Given the description of an element on the screen output the (x, y) to click on. 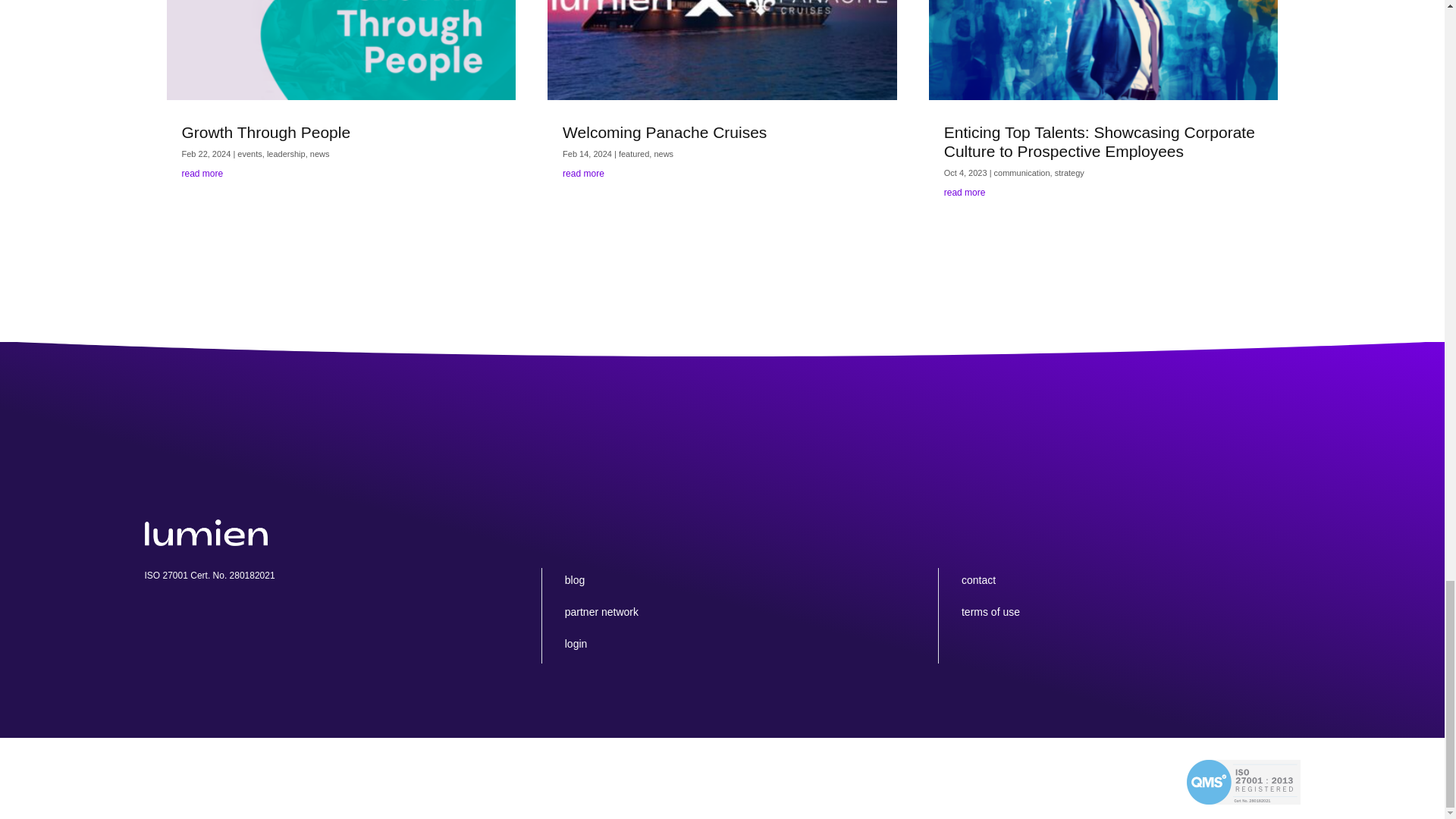
Growth Through People (266, 131)
ISO 27001 Cert. No. 280182021 (1243, 782)
lumien logo white (205, 532)
